Given the description of an element on the screen output the (x, y) to click on. 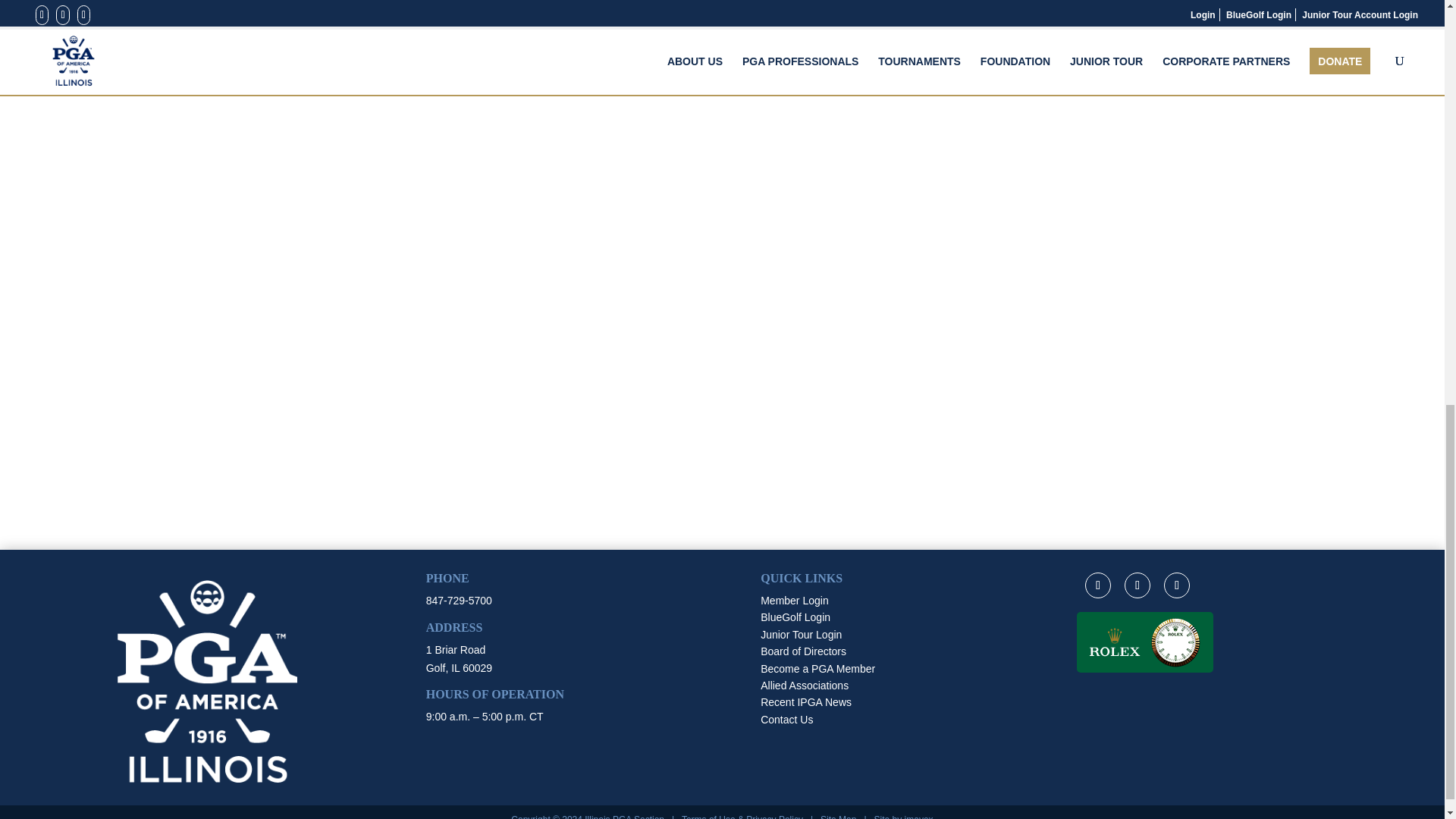
847-729-5700 (459, 600)
Follow on Facebook (1097, 585)
Follow on Twitter (1137, 585)
Site By Imavex, Your Digital Marketing Guru (918, 816)
Follow on Instagram (1176, 585)
